Given the description of an element on the screen output the (x, y) to click on. 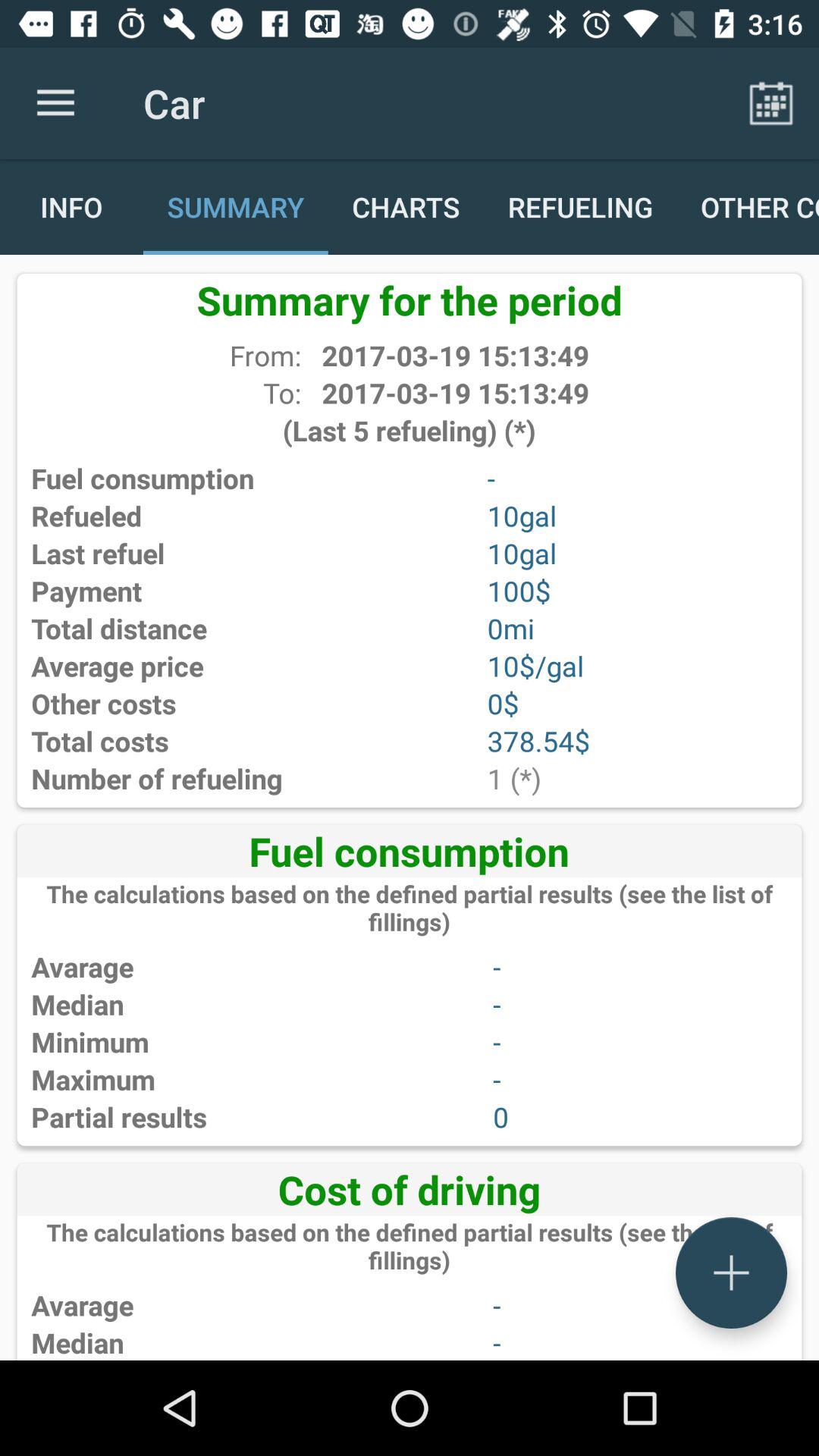
select app to the left of car item (55, 103)
